Given the description of an element on the screen output the (x, y) to click on. 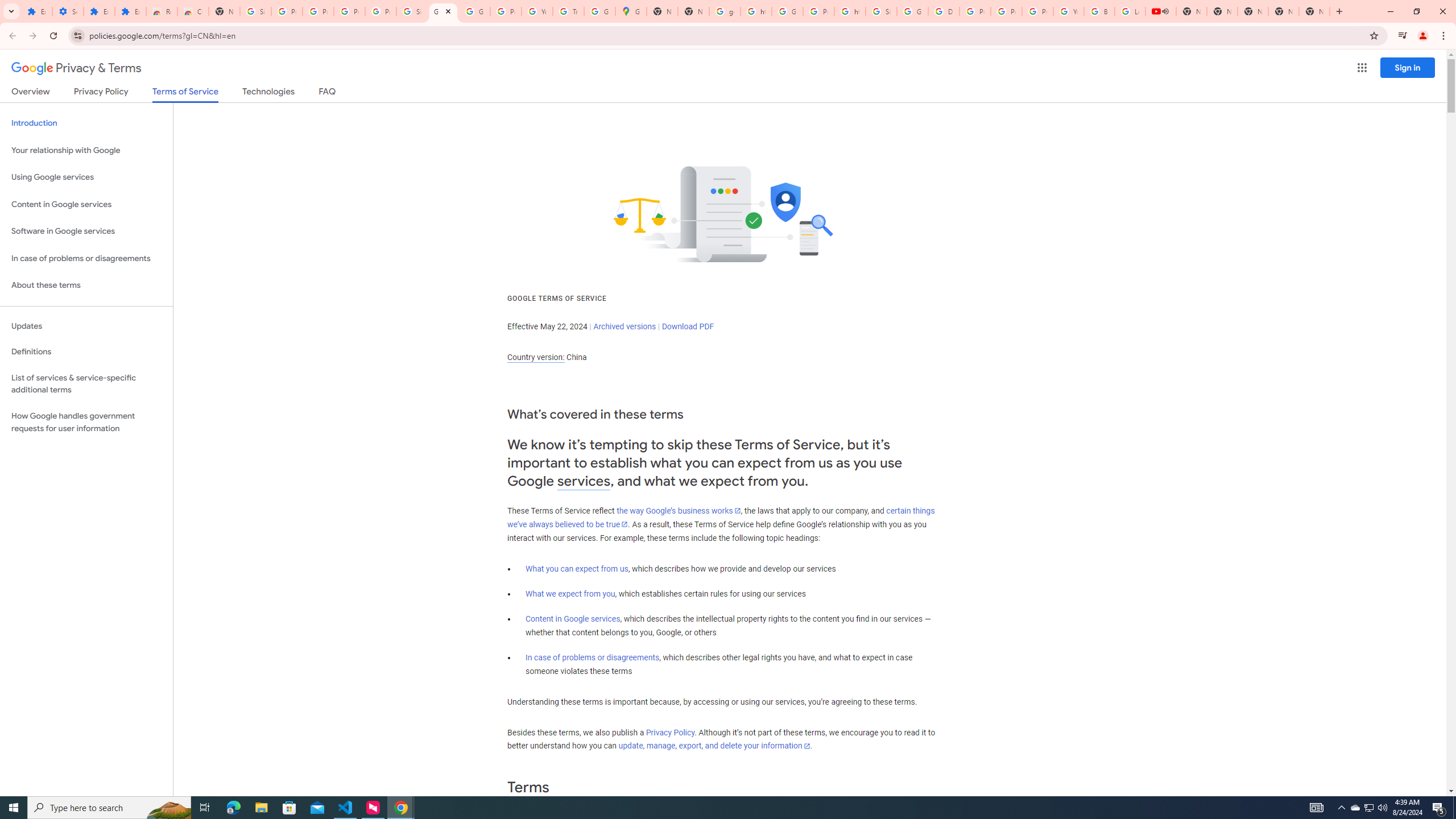
What you can expect from us (576, 568)
Sign in - Google Accounts (411, 11)
Country version: (535, 357)
In case of problems or disagreements (592, 657)
Extensions (98, 11)
